Given the description of an element on the screen output the (x, y) to click on. 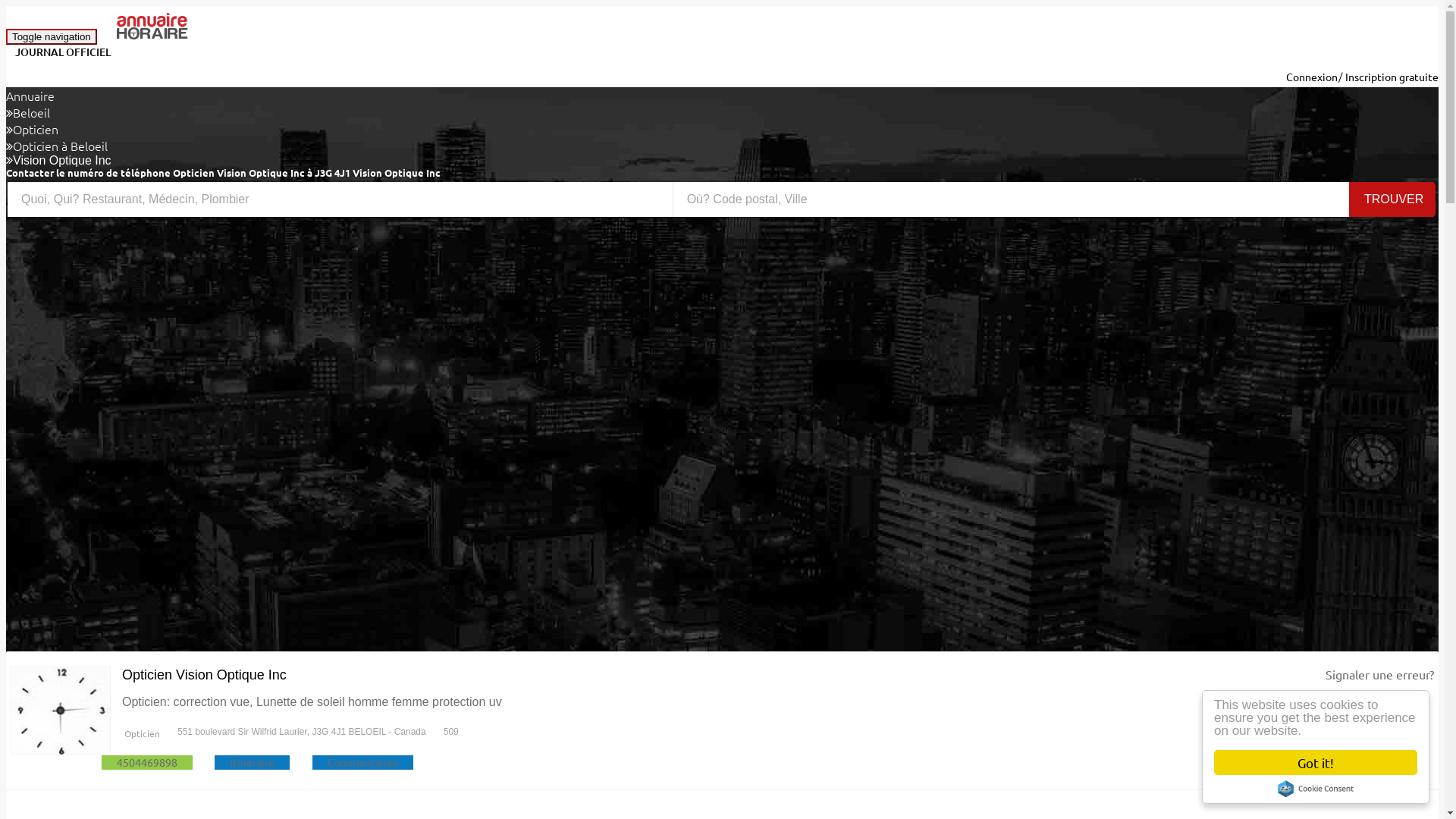
JOURNAL OFFICIEL Element type: text (62, 51)
4504469898 Element type: text (146, 761)
Annuaire Element type: text (30, 95)
Advertisement Element type: hover (461, 545)
Signaler une erreur? Element type: text (1379, 673)
Commentaires Element type: text (362, 761)
Inscription gratuite Element type: text (1391, 76)
Beloeil Element type: text (31, 111)
TROUVER Element type: text (1392, 199)
Got it! Element type: text (1315, 762)
Toggle navigation Element type: text (51, 36)
Opticien Element type: text (35, 128)
Connexion Element type: text (1311, 76)
Opticien Element type: text (141, 733)
Cookie Consent plugin for the EU cookie law Element type: text (1315, 788)
Advertisement Element type: hover (461, 332)
